Given the description of an element on the screen output the (x, y) to click on. 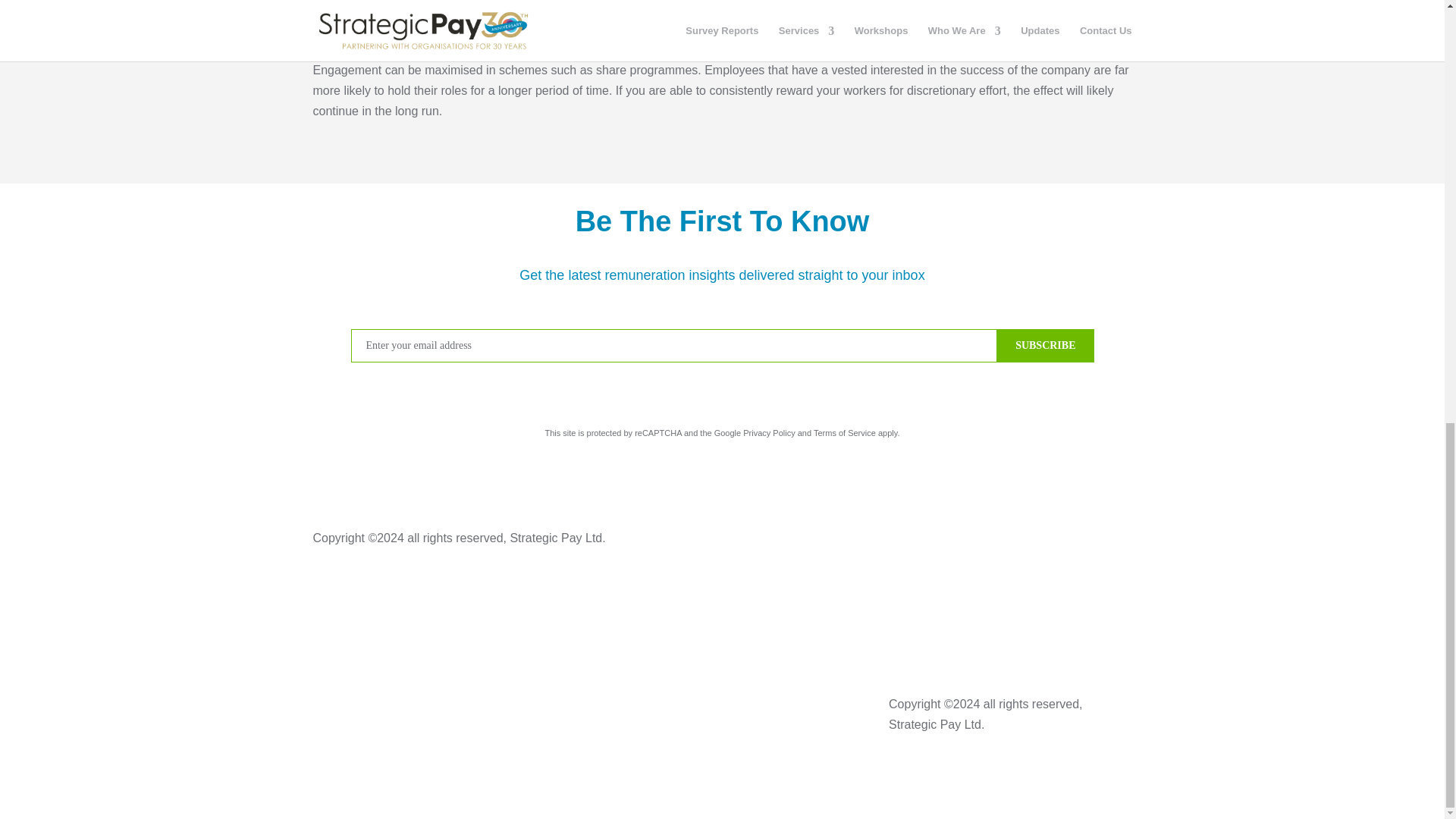
Follow on LinkedIn (543, 705)
Follow on LinkedIn (1118, 539)
SUBSCRIBE (1045, 345)
